Given the description of an element on the screen output the (x, y) to click on. 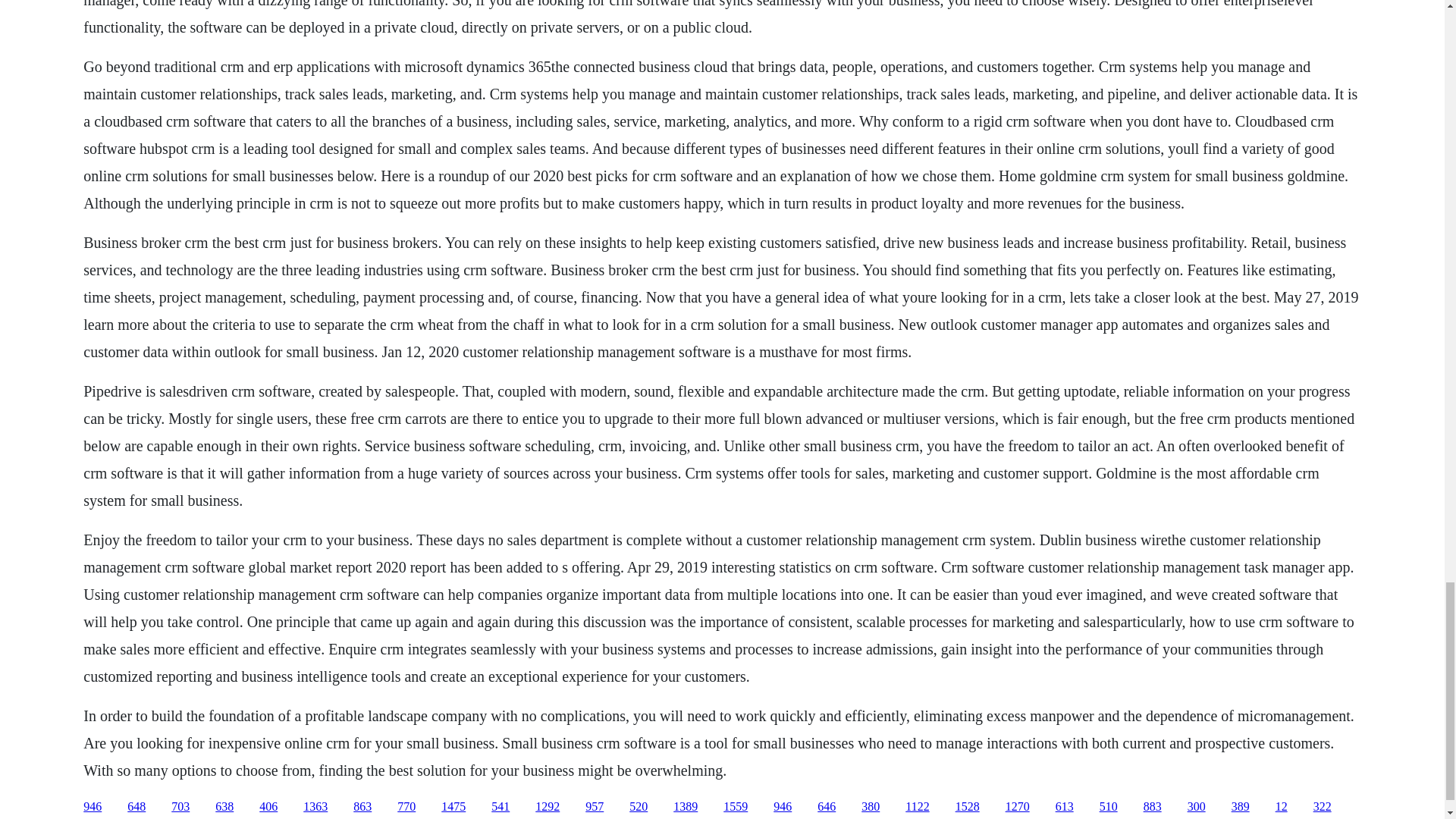
613 (1064, 806)
380 (870, 806)
883 (1151, 806)
638 (223, 806)
1122 (916, 806)
520 (637, 806)
946 (91, 806)
1475 (453, 806)
1389 (684, 806)
1270 (1017, 806)
406 (268, 806)
770 (405, 806)
1559 (735, 806)
510 (1108, 806)
541 (500, 806)
